Given the description of an element on the screen output the (x, y) to click on. 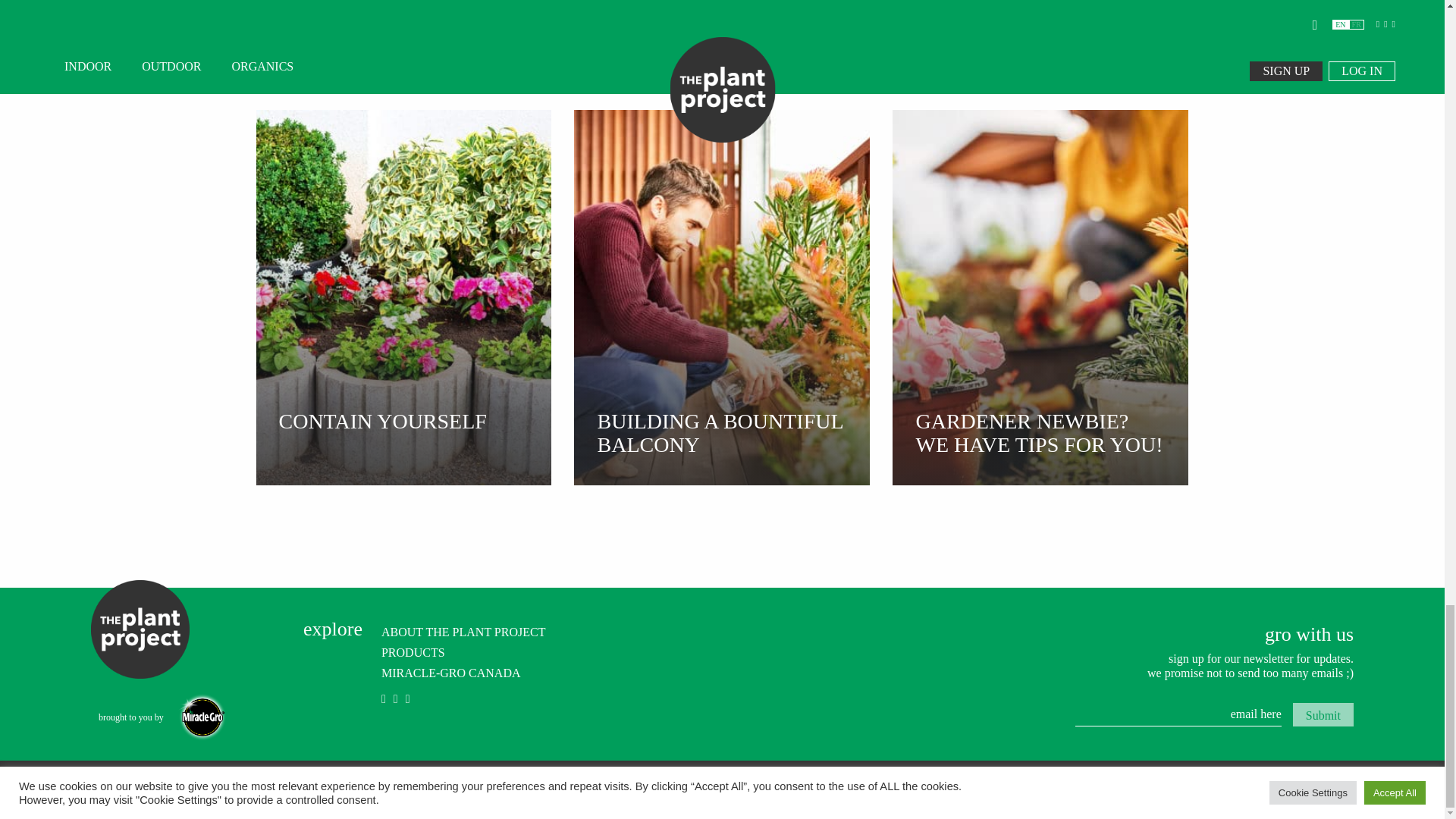
Submit (1323, 714)
